Given the description of an element on the screen output the (x, y) to click on. 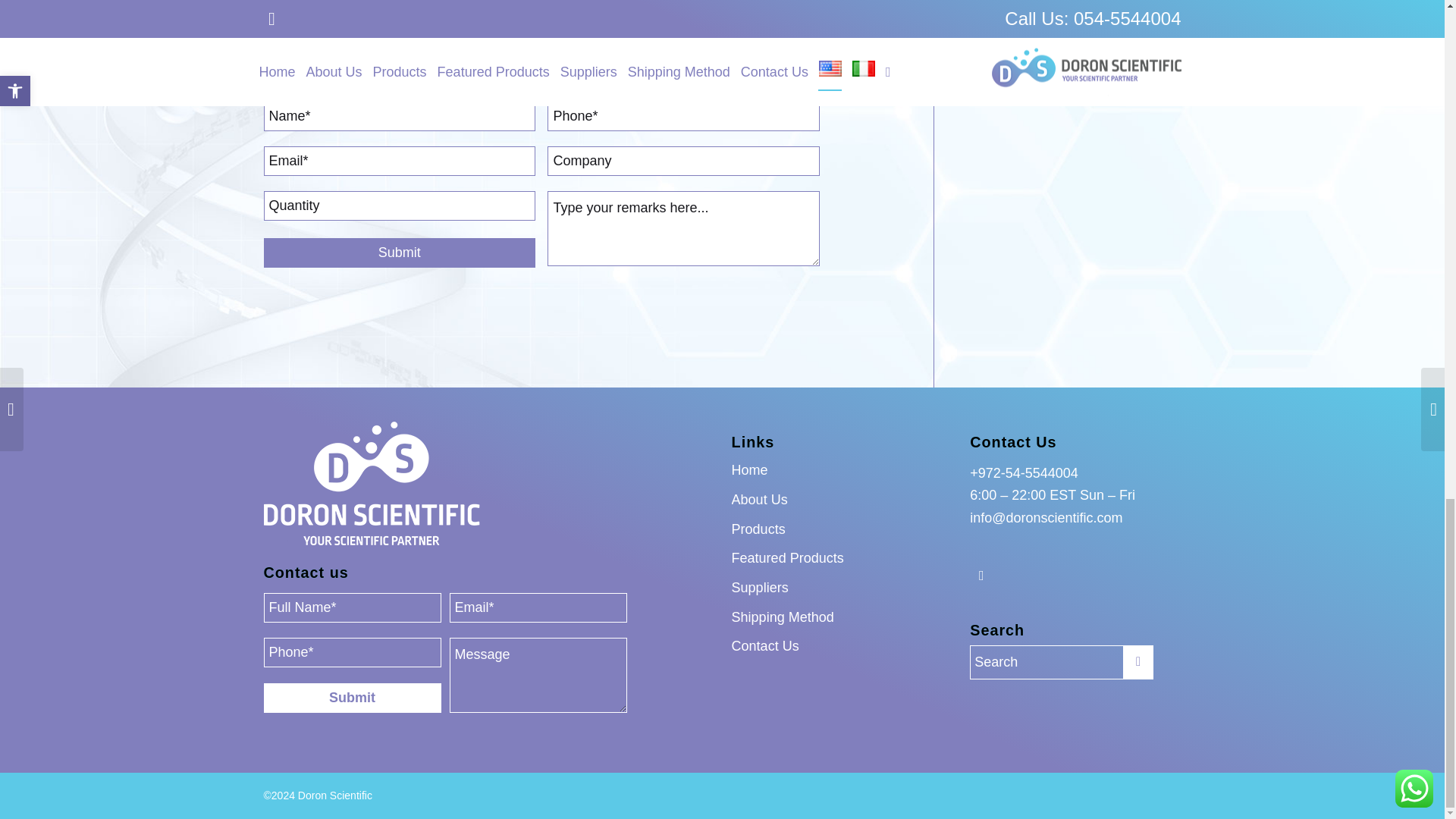
RAS-T045 (682, 59)
Submit (399, 252)
Submit (352, 697)
WhatsApp (980, 575)
